Given the description of an element on the screen output the (x, y) to click on. 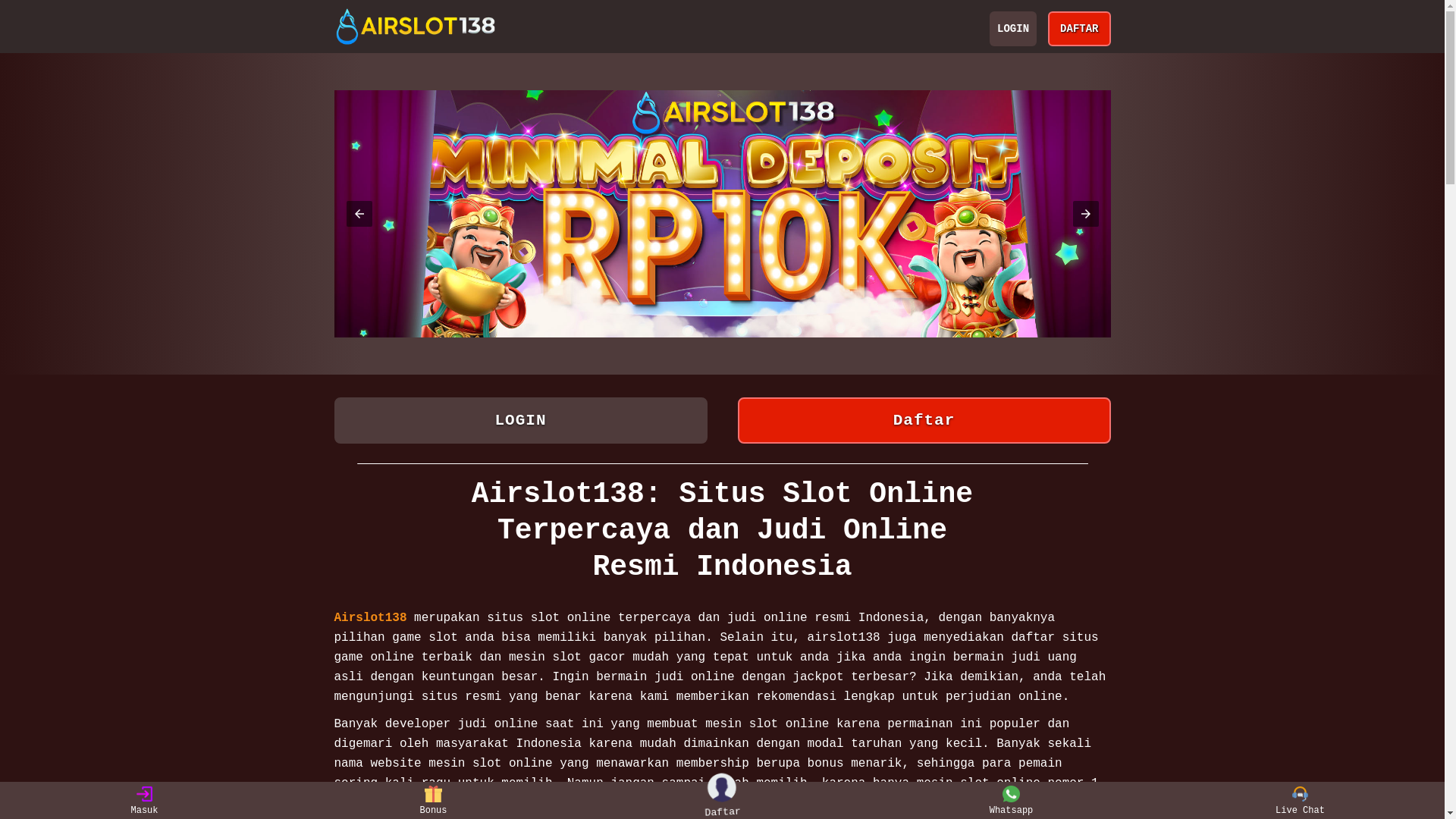
Daftar Element type: text (724, 800)
LOGIN Element type: text (519, 420)
Previous item in carousel (1 of 3) Element type: hover (358, 213)
Bonus Element type: text (432, 800)
DAFTAR Element type: text (1079, 28)
Whatsapp Element type: text (1010, 800)
Live Chat Element type: text (1299, 800)
Airslot138 Element type: text (369, 617)
Daftar Element type: text (923, 420)
Masuk Element type: text (144, 800)
LOGIN Element type: text (1012, 28)
Next item in carousel (3 of 3) Element type: hover (1085, 213)
